Given the description of an element on the screen output the (x, y) to click on. 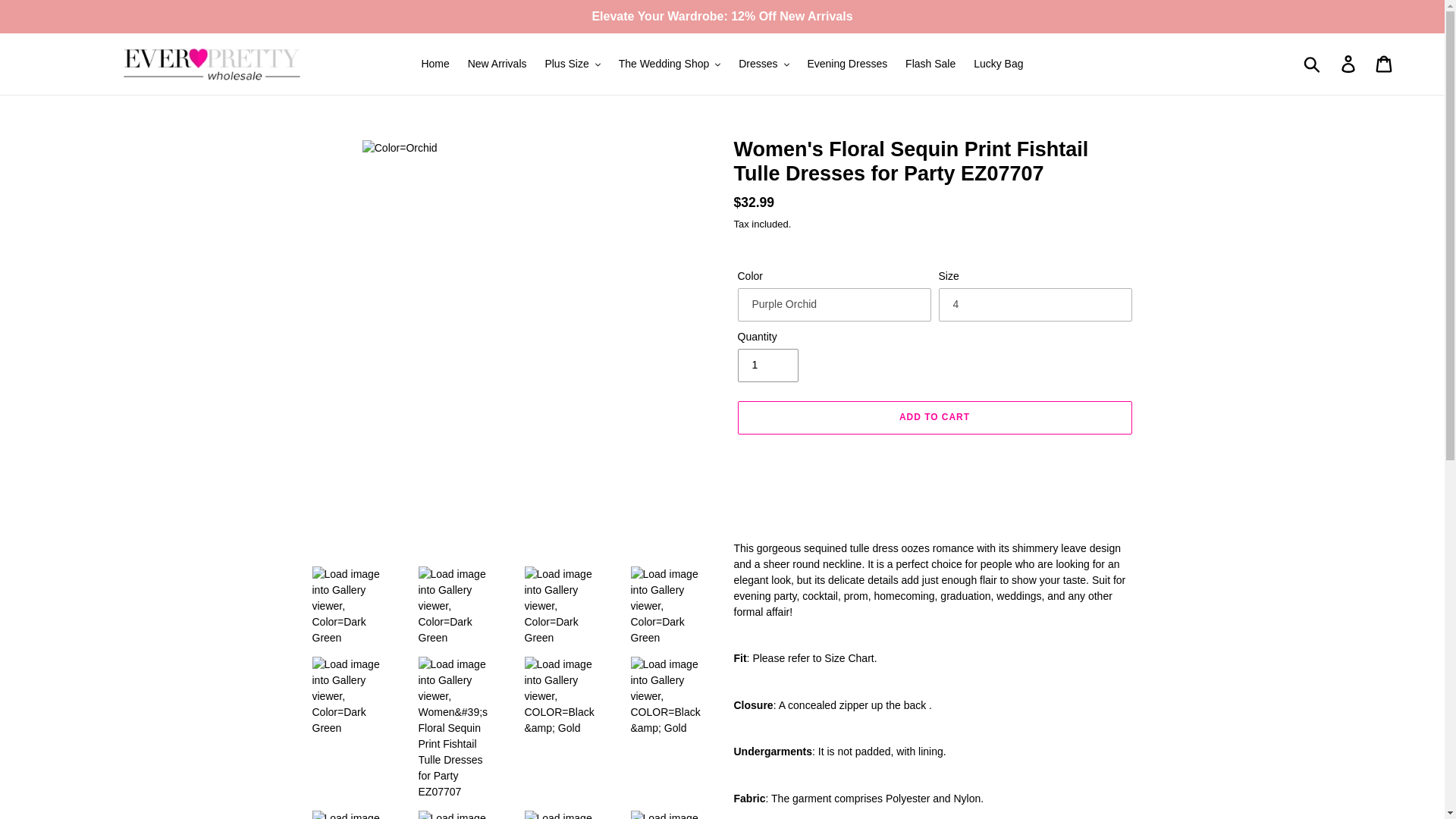
Home (435, 64)
1 (766, 365)
New Arrivals (497, 64)
